Given the description of an element on the screen output the (x, y) to click on. 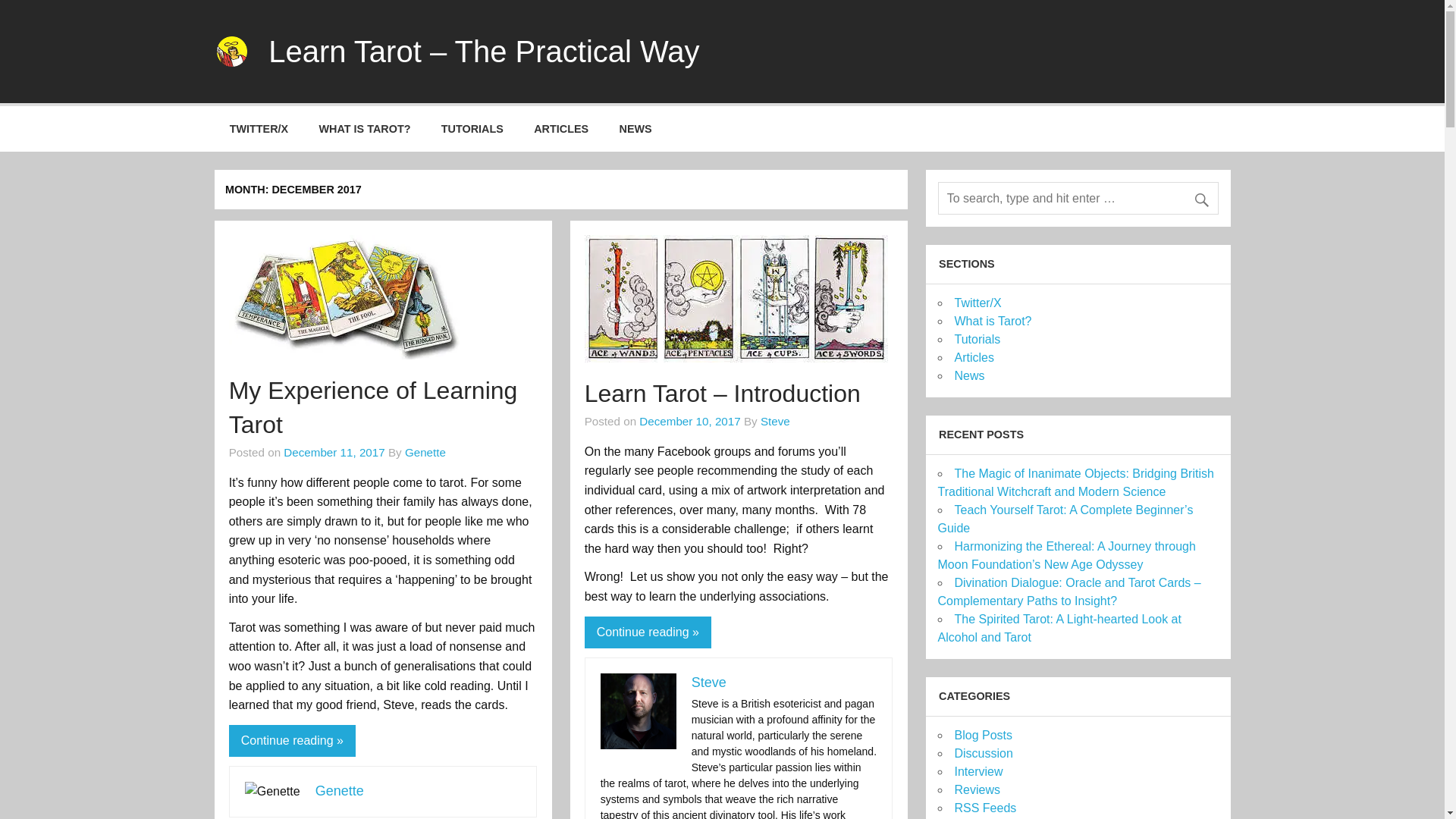
6:45 pm (333, 451)
Steve (708, 682)
Genette (339, 790)
December 10, 2017 (689, 420)
TUTORIALS (472, 128)
WHAT IS TAROT? (363, 128)
NEWS (635, 128)
Genette (424, 451)
December 11, 2017 (333, 451)
ARTICLES (561, 128)
